Given the description of an element on the screen output the (x, y) to click on. 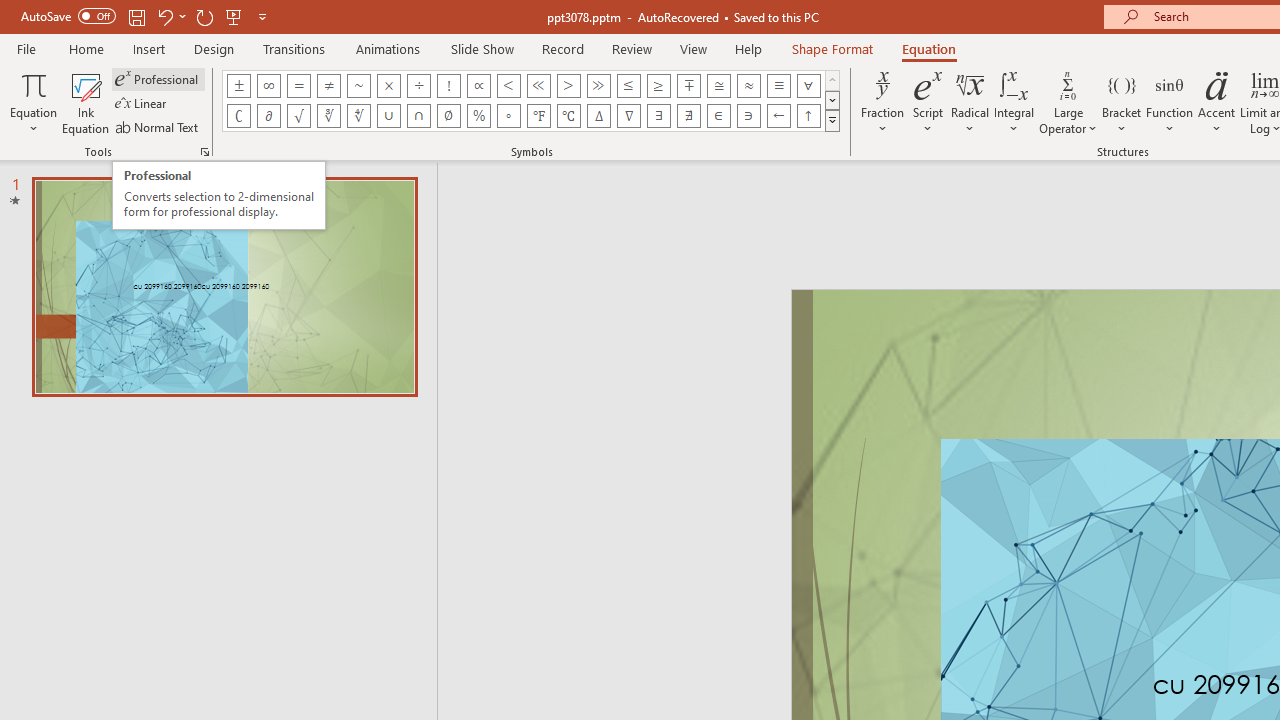
Equation Symbol Partial Differential (268, 115)
Script (927, 102)
Equation (33, 102)
Radical (970, 102)
Equation Symbol Approximately (358, 85)
Equation Symbol There Does Not Exist (689, 115)
Equation (928, 48)
Large Operator (1067, 102)
Equation Symbol Approximately Equal To (718, 85)
Equation Symbol Much Less Than (538, 85)
Equation Symbol There Exists (658, 115)
